Given the description of an element on the screen output the (x, y) to click on. 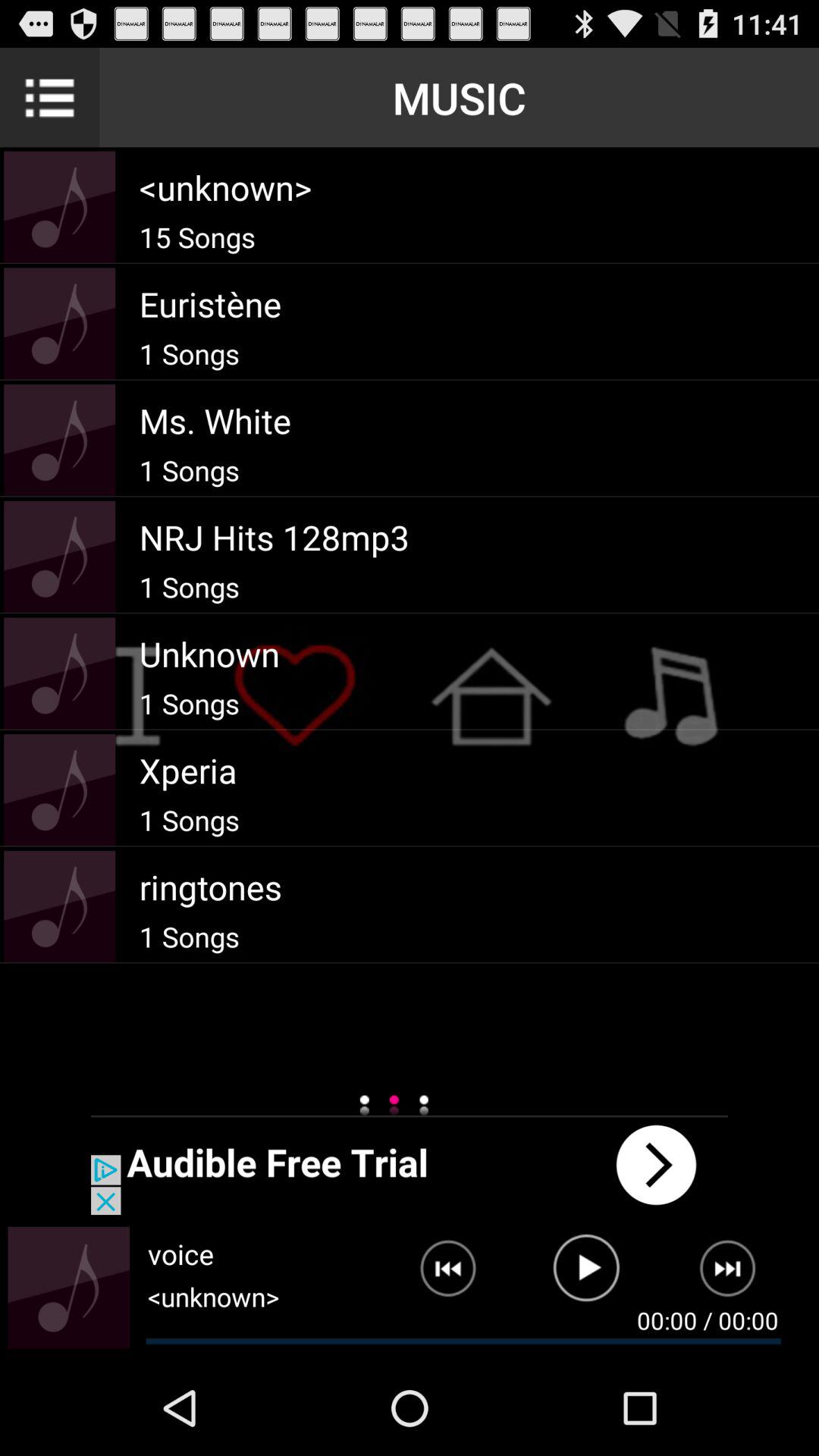
volume control (68, 1287)
